Given the description of an element on the screen output the (x, y) to click on. 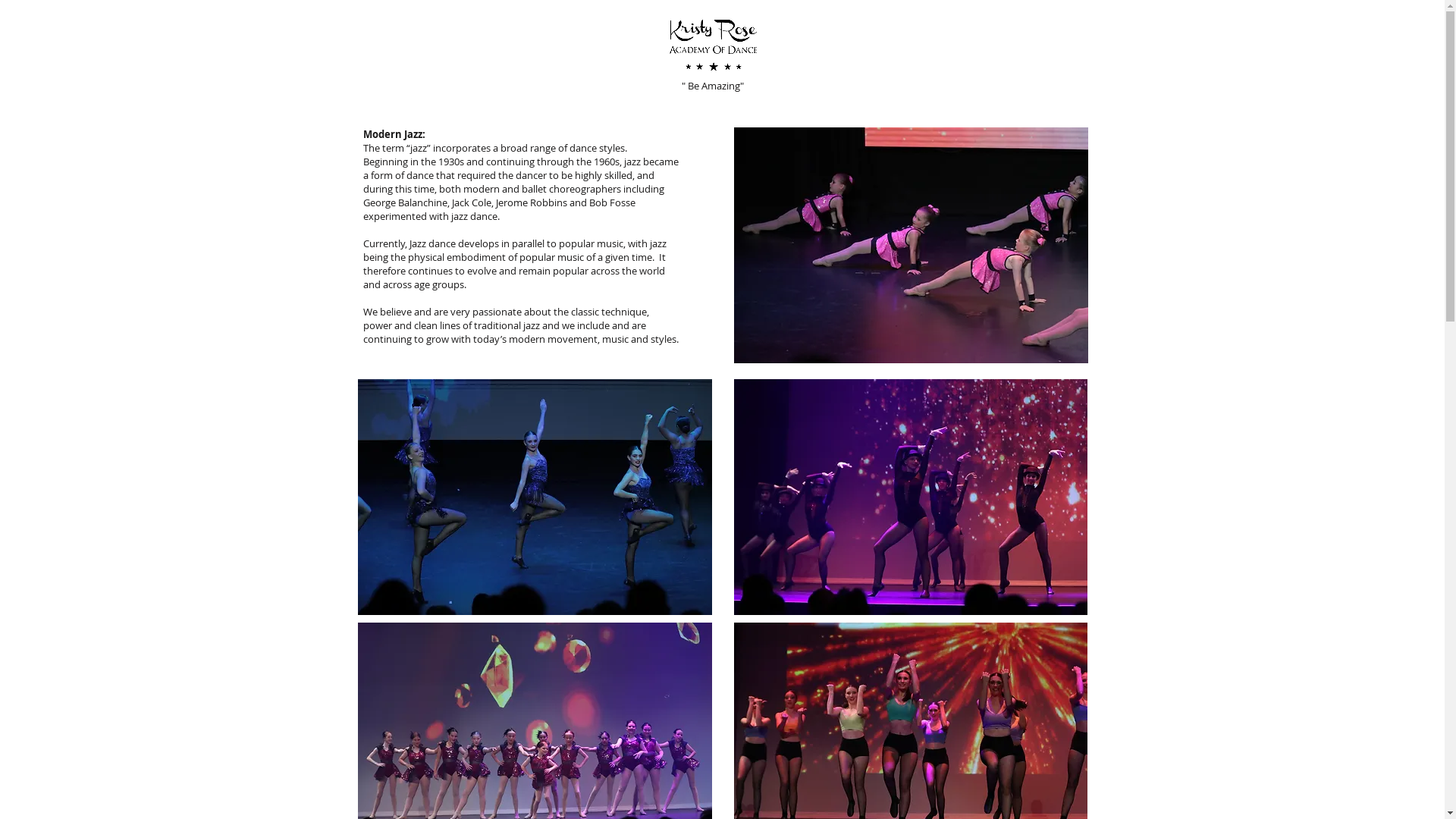
Modern Jazz: Element type: text (393, 134)
